Given the description of an element on the screen output the (x, y) to click on. 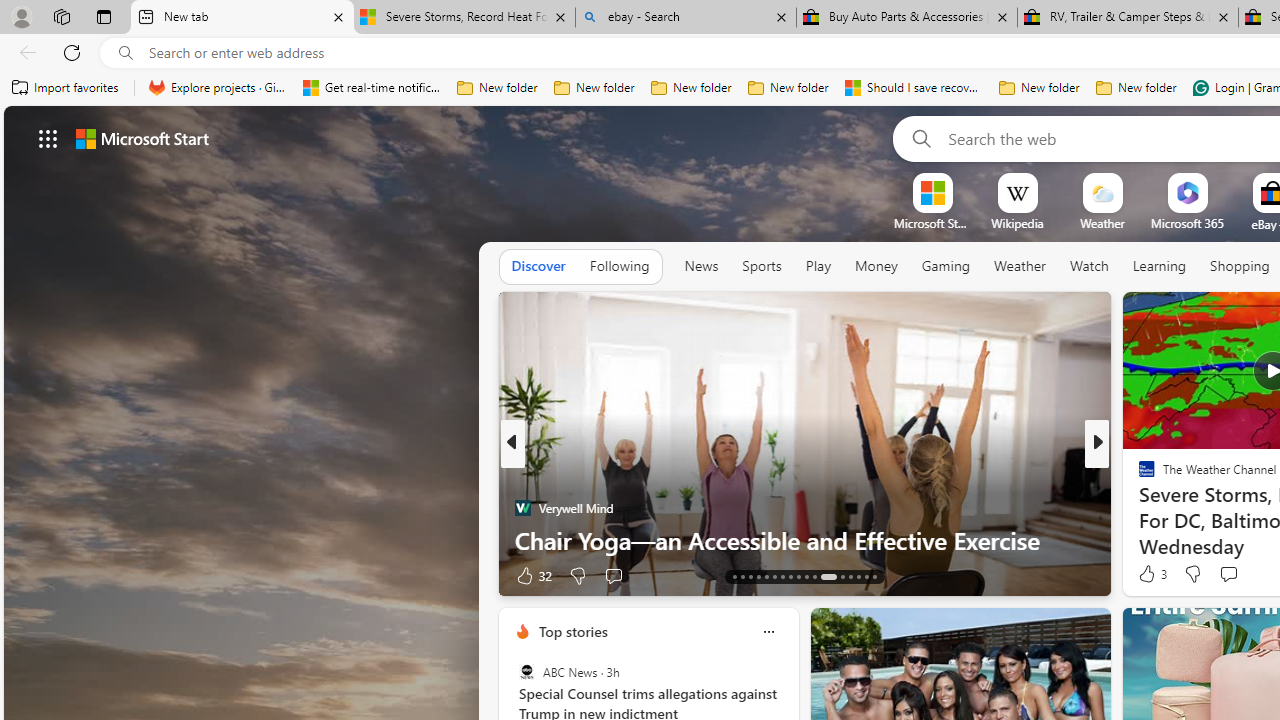
Gaming (945, 267)
To get missing image descriptions, open the context menu. (932, 192)
AutomationID: tab-21 (797, 576)
View comments 8 Comment (1229, 575)
AutomationID: tab-19 (782, 576)
32 Like (532, 574)
View comments 96 Comment (11, 575)
AutomationID: tab-13 (733, 576)
Class: icon-img (768, 632)
Top stories (572, 631)
